Given the description of an element on the screen output the (x, y) to click on. 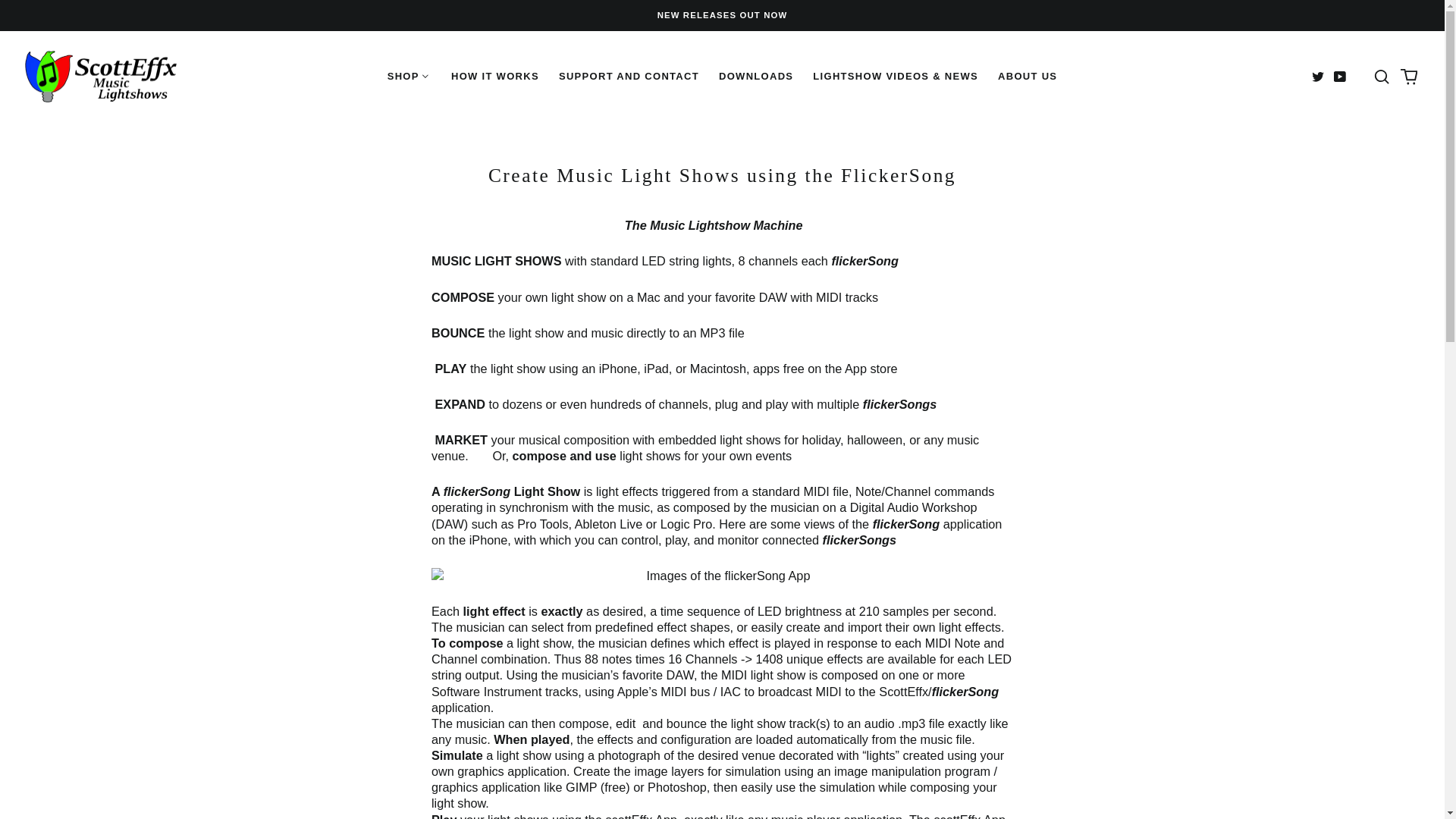
SUPPORT AND CONTACT (628, 76)
Twitter (1317, 76)
DOWNLOADS (756, 76)
HOW IT WORKS (494, 76)
SHOP (409, 76)
ABOUT US (1027, 76)
Youtube (1339, 76)
Search our site (1382, 75)
